Given the description of an element on the screen output the (x, y) to click on. 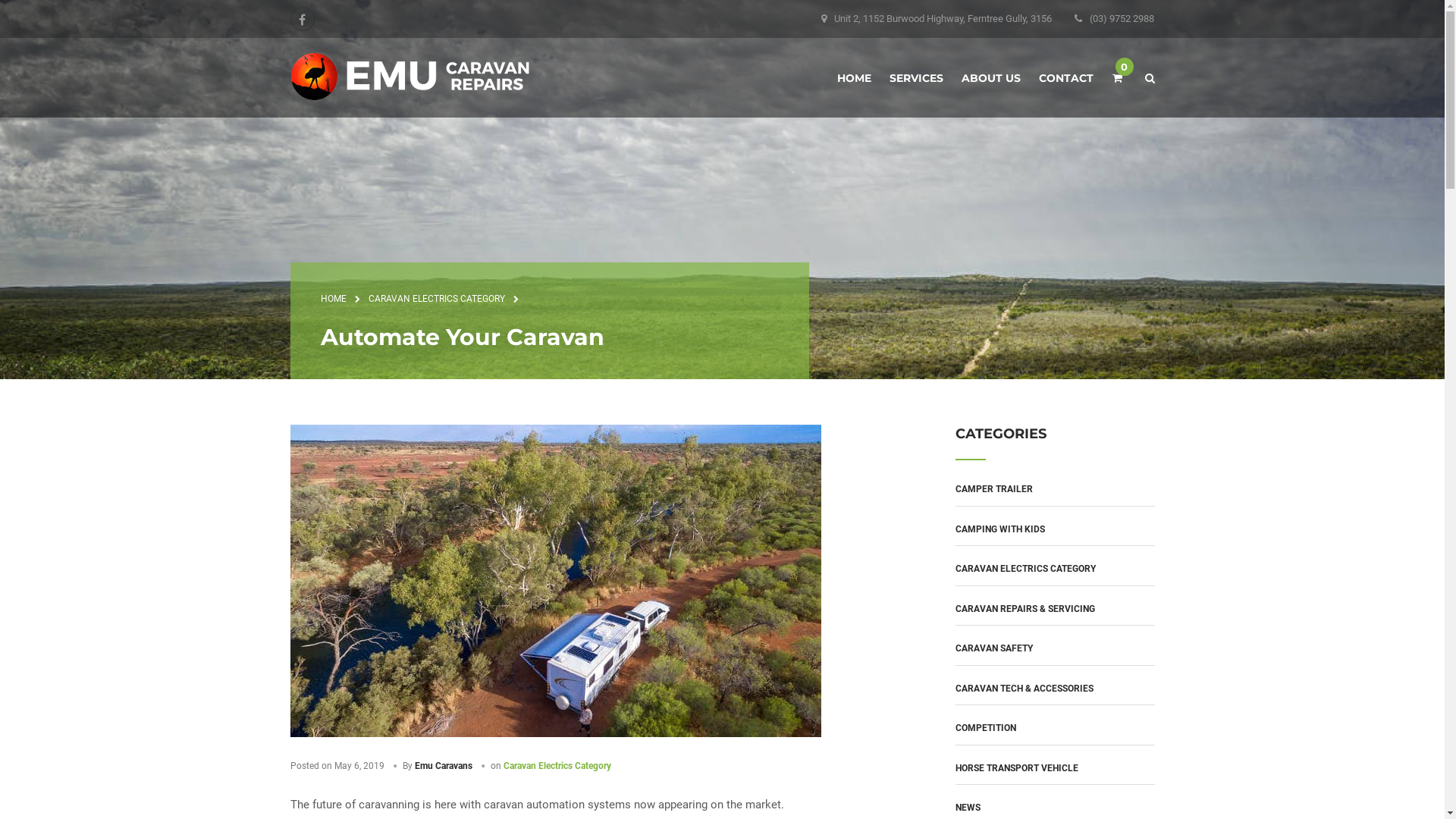
CONTACT Element type: text (1065, 78)
Terms Element type: text (1091, 781)
CAMPER TRAILER Element type: text (993, 488)
HORSE TRANSPORT VEHICLE Element type: text (1016, 767)
CARAVAN REPAIRS & SERVICING Element type: text (1025, 608)
Reviews On Google Element type: text (922, 590)
Privacy Element type: text (1052, 781)
SUBSCRIBE
SUBSCRIBE Element type: text (1088, 415)
Emu Caravan Repairs - Keeping you on the road Element type: hover (409, 75)
Caravan Service Element type: text (619, 593)
Caravan Electrics Category Element type: text (557, 765)
HOME Element type: text (854, 78)
ABOUT US Element type: text (990, 78)
Caravan Electrics Element type: text (622, 659)
Caravan Insurance Repairs Element type: text (642, 571)
Caravan Modifications & Repairs Element type: text (637, 626)
CARAVAN TECH & ACCESSORIES Element type: text (1024, 688)
Trailer Repairs Element type: text (616, 682)
CARAVAN ELECTRICS CATEGORY Element type: text (436, 298)
CARAVAN SAFETY Element type: text (993, 648)
CARAVAN ELECTRICS CATEGORY Element type: text (1025, 568)
Reviews On Facebook Element type: text (928, 609)
HOME Element type: text (332, 298)
SERVICES Element type: text (915, 78)
CAMPING WITH KIDS Element type: text (999, 529)
Sitemap Element type: text (1132, 781)
NEWS Element type: text (967, 807)
Emu Caravans Element type: text (442, 765)
Leave a Review Element type: text (914, 571)
COMPETITION Element type: text (985, 727)
Tag The Cat Element type: text (347, 781)
